Given the description of an element on the screen output the (x, y) to click on. 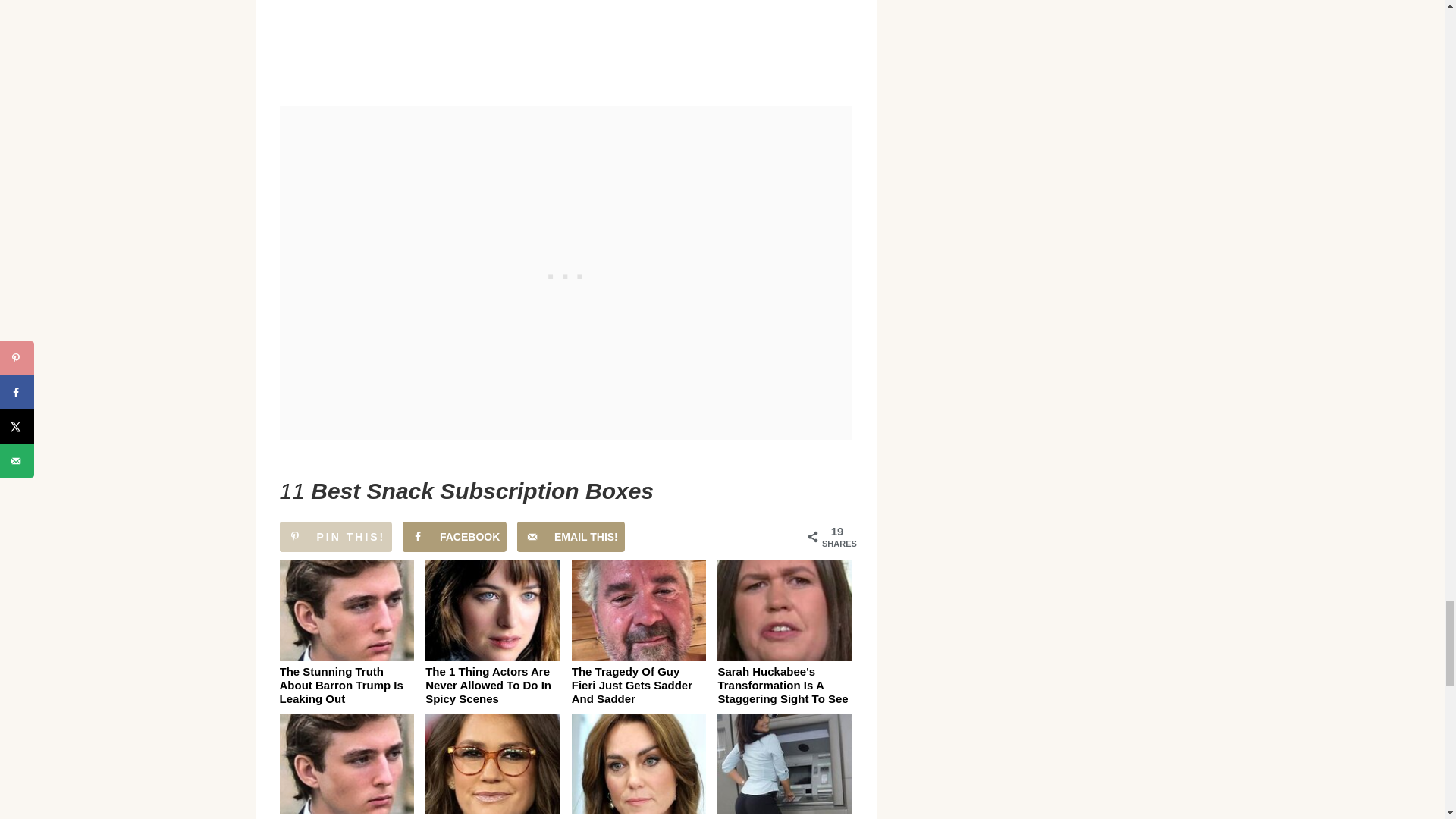
Share on Facebook (454, 536)
Save to Pinterest (335, 536)
Send over email (570, 536)
